Given the description of an element on the screen output the (x, y) to click on. 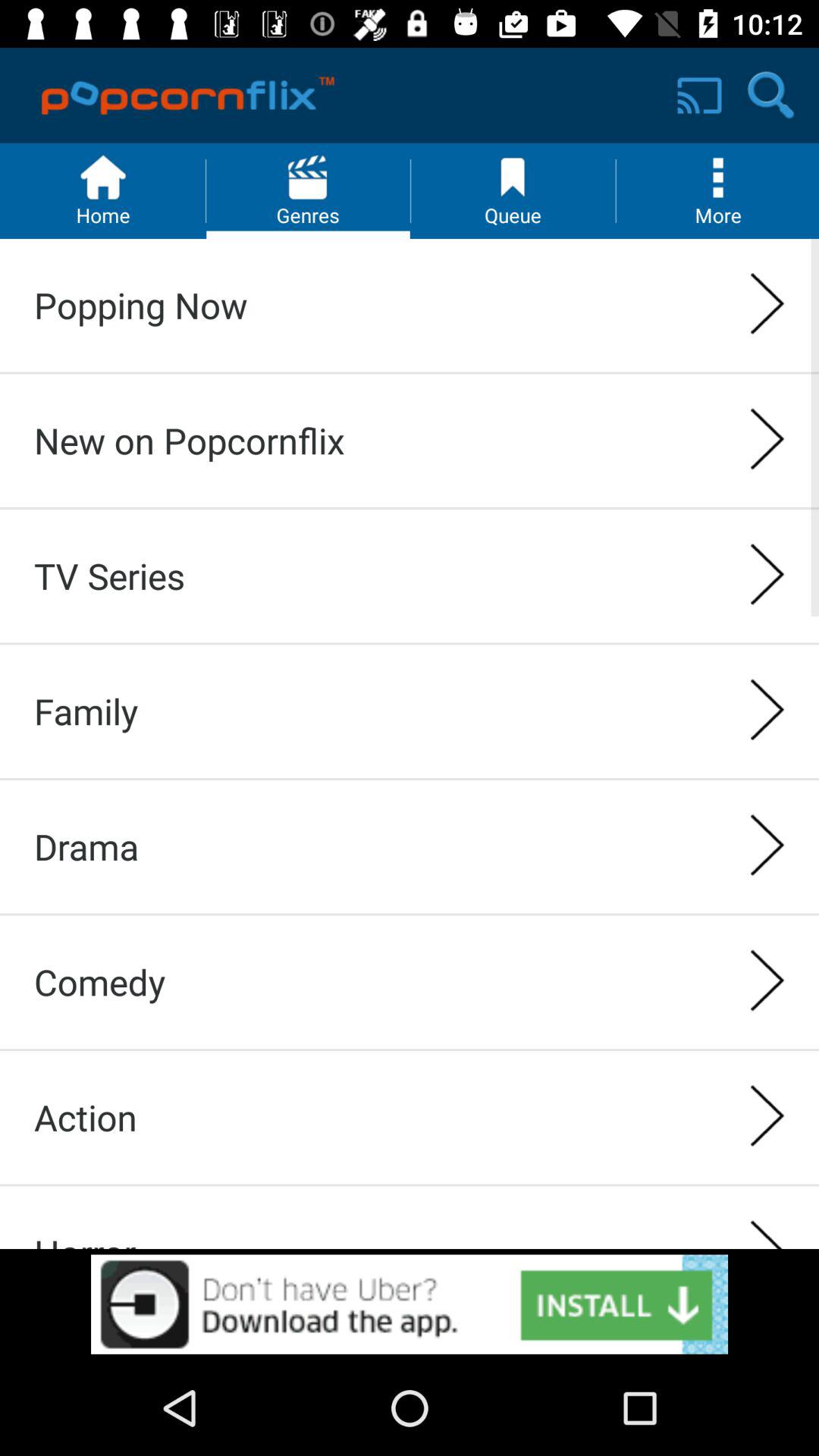
open advertisement (409, 1304)
